Given the description of an element on the screen output the (x, y) to click on. 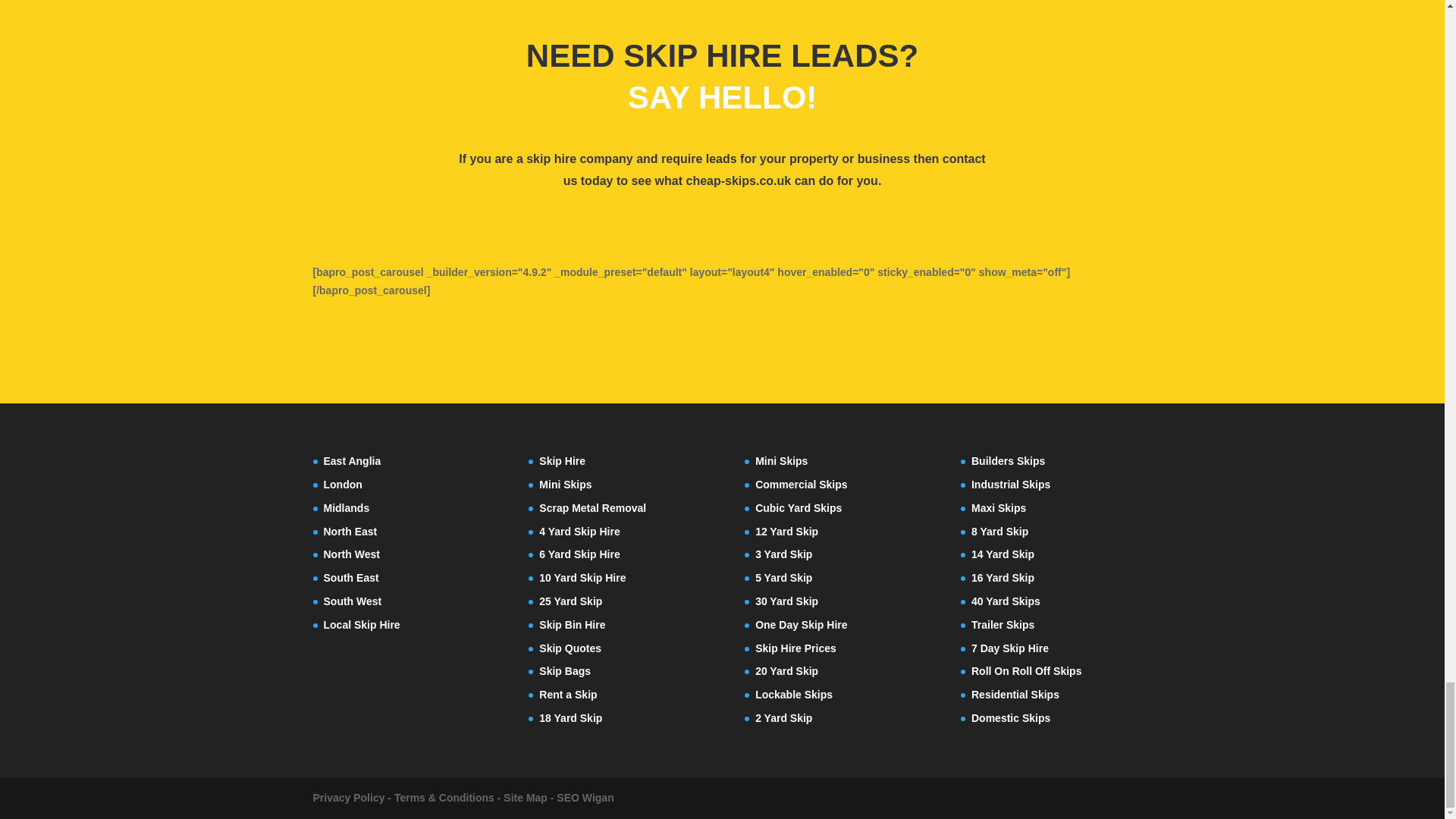
Local Skip Hire (360, 624)
South West (352, 601)
North West (350, 553)
4 Yard Skip Hire (579, 531)
Mini Skips (564, 484)
East Anglia (351, 460)
6 Yard Skip Hire (579, 553)
Commercial Skips (801, 484)
Midlands (346, 508)
25 Yard Skip (570, 601)
SEO Wigan (584, 797)
South East (350, 577)
10 Yard Skip Hire (582, 577)
North East (350, 531)
Privacy Policy (348, 797)
